Given the description of an element on the screen output the (x, y) to click on. 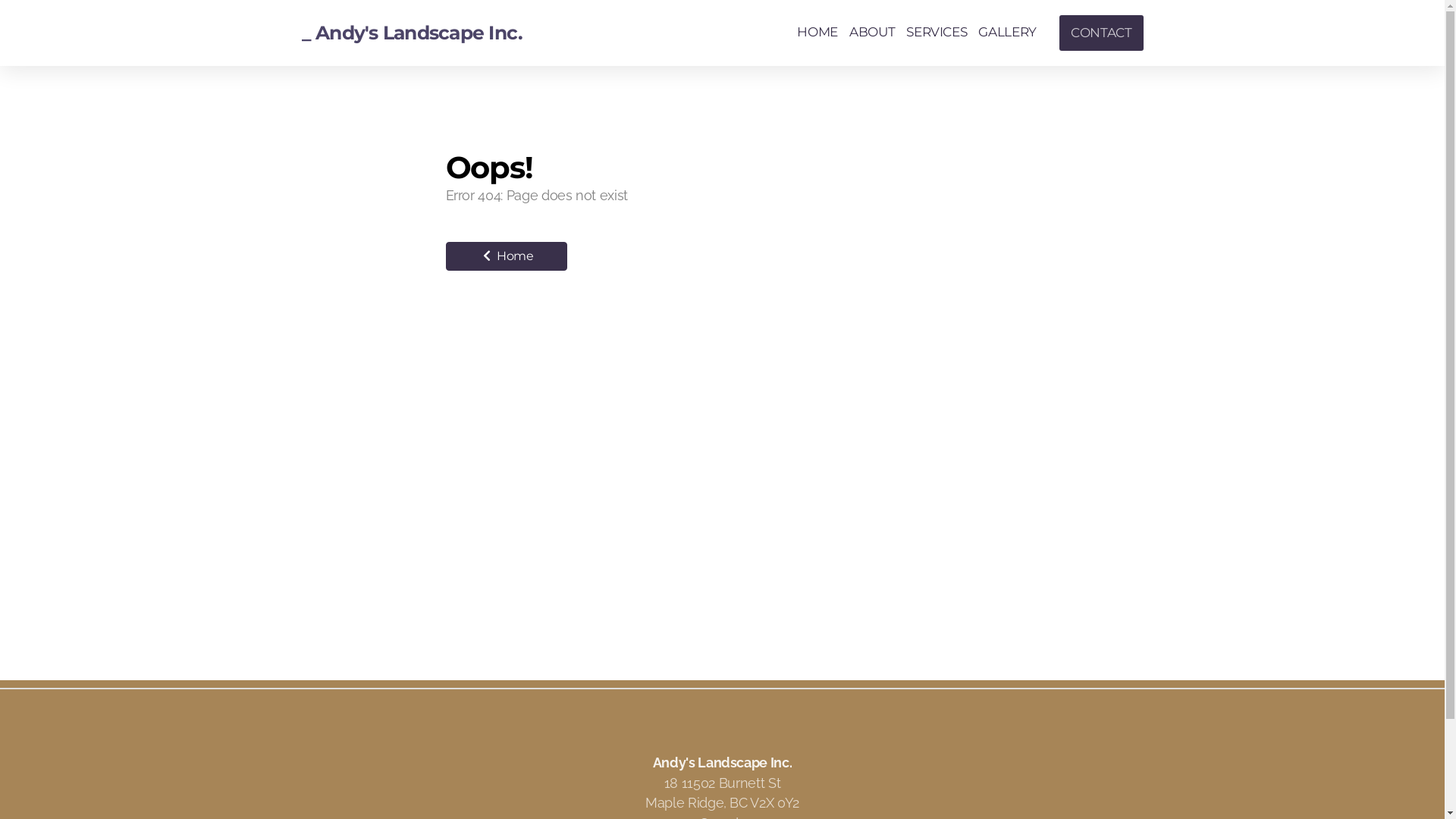
_ Andy's Landscape Inc. Element type: text (412, 32)
HOME Element type: text (817, 32)
SERVICES Element type: text (936, 32)
GALLERY Element type: text (1007, 32)
ABOUT Element type: text (871, 32)
CONTACT Element type: text (1101, 32)
Home Element type: text (506, 255)
